Given the description of an element on the screen output the (x, y) to click on. 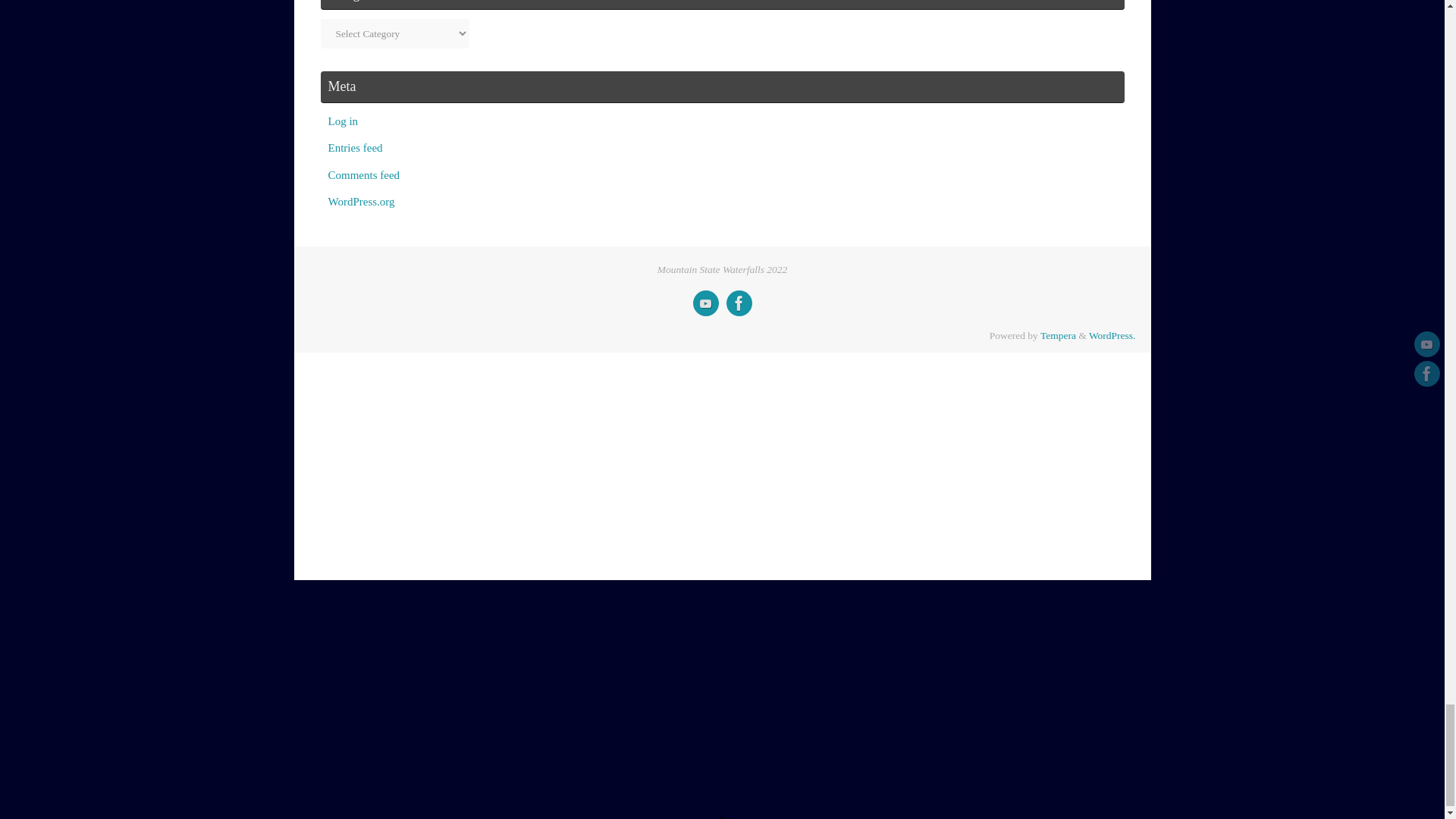
Joe Fitzwater Meteorologist (739, 303)
Semantic Personal Publishing Platform (1112, 335)
Tempera Theme by Cryout Creations (1058, 335)
Mountain State Waterfalls Youtube (706, 303)
